Given the description of an element on the screen output the (x, y) to click on. 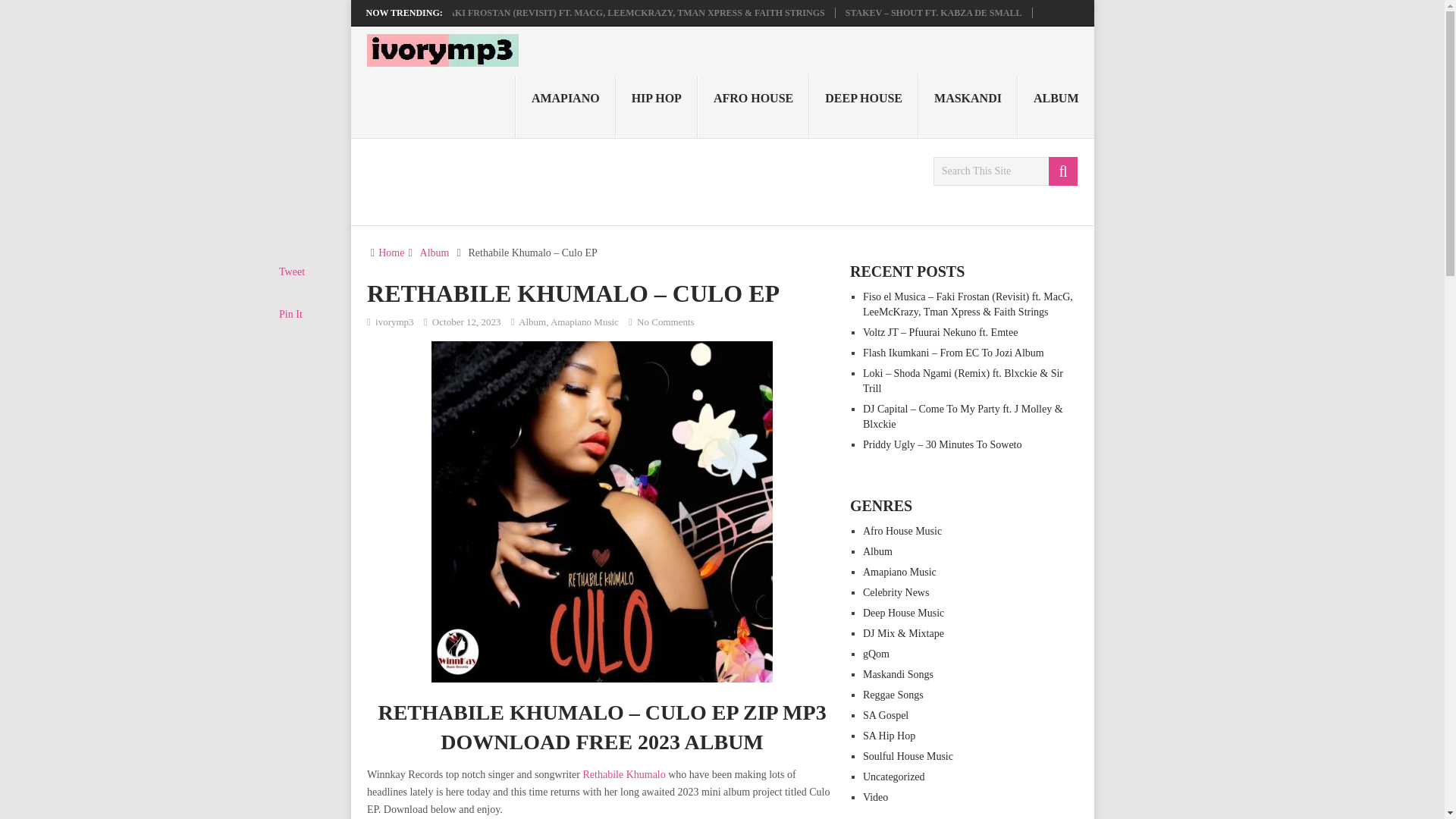
AMAPIANO (565, 107)
View all posts in Album (532, 321)
DEEP HOUSE (863, 107)
MASKANDI (967, 107)
Home (391, 252)
View all posts in Amapiano Music (584, 321)
Album (434, 252)
ivorymp3 (394, 321)
Posts by ivorymp3 (394, 321)
AFRO HOUSE (753, 107)
Tweet (291, 271)
Album (532, 321)
No Comments (665, 321)
Pin It (290, 314)
ALBUM (1055, 107)
